Given the description of an element on the screen output the (x, y) to click on. 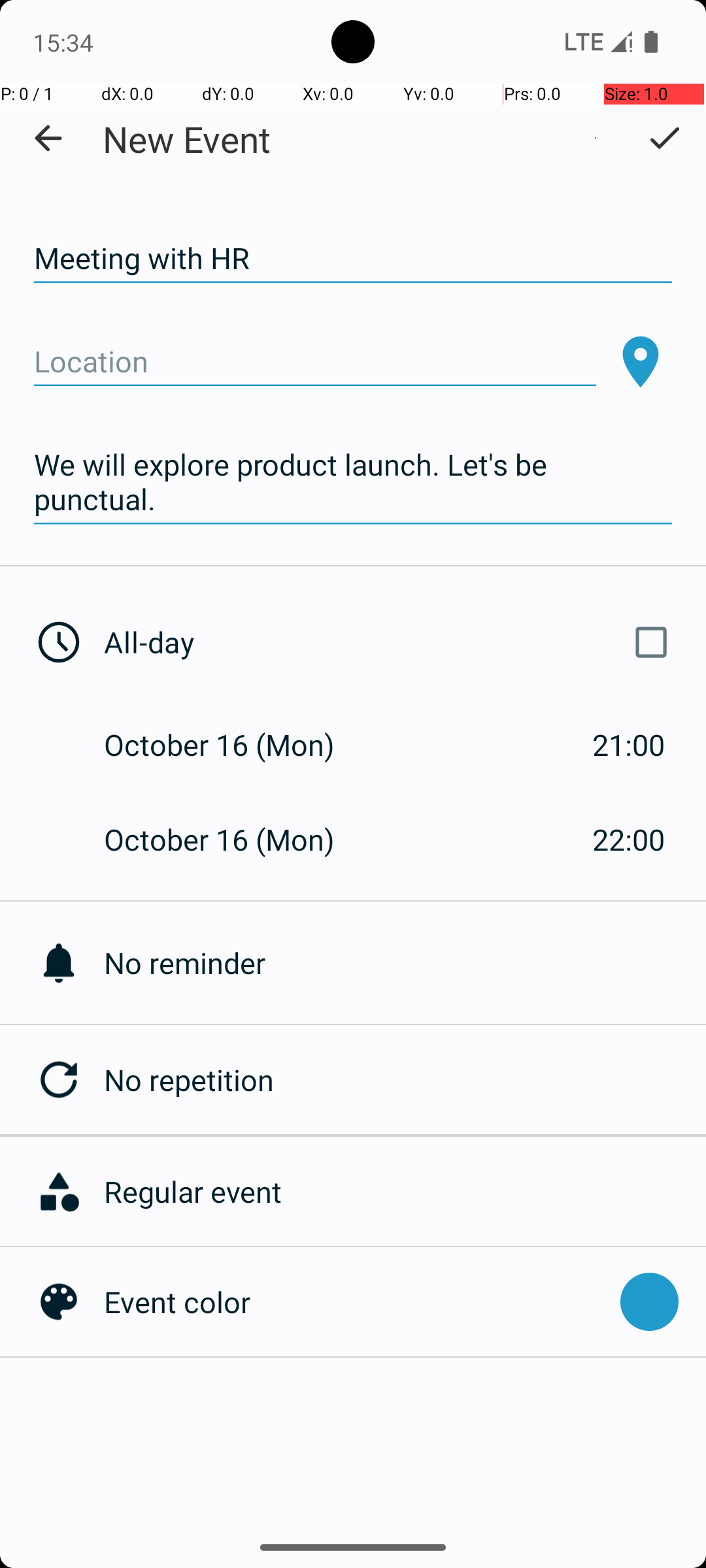
Meeting with HR Element type: android.widget.EditText (352, 258)
Location Element type: android.widget.EditText (314, 361)
We will explore product launch. Let's be punctual. Element type: android.widget.EditText (352, 482)
October 16 (Mon) Element type: android.widget.TextView (232, 744)
21:00 Element type: android.widget.TextView (628, 744)
22:00 Element type: android.widget.TextView (628, 838)
No reminder Element type: android.widget.TextView (404, 962)
No repetition Element type: android.widget.TextView (404, 1079)
All-day Element type: android.widget.CheckBox (390, 642)
Event color Element type: android.widget.TextView (354, 1301)
